Given the description of an element on the screen output the (x, y) to click on. 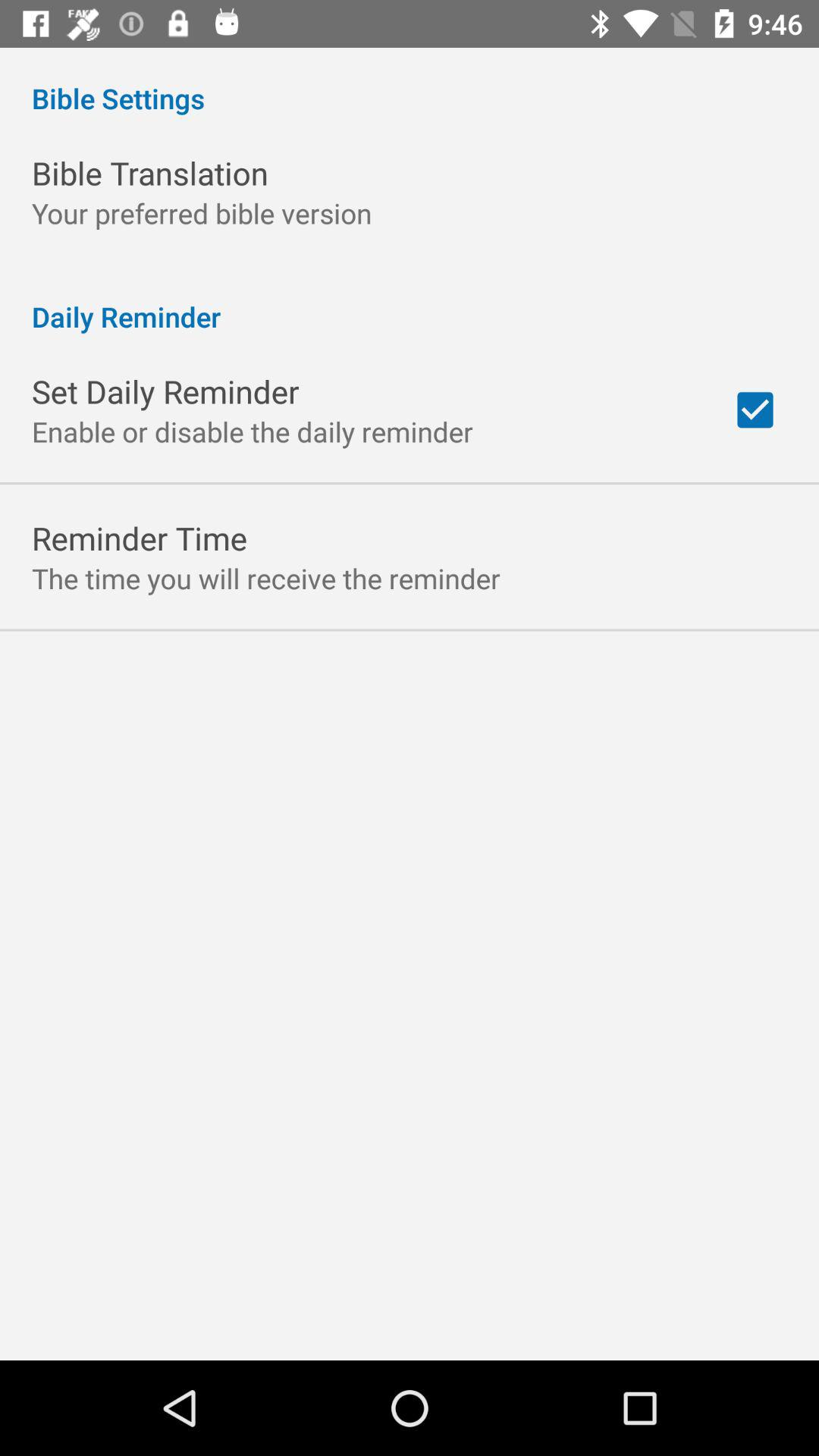
launch bible settings (409, 82)
